Given the description of an element on the screen output the (x, y) to click on. 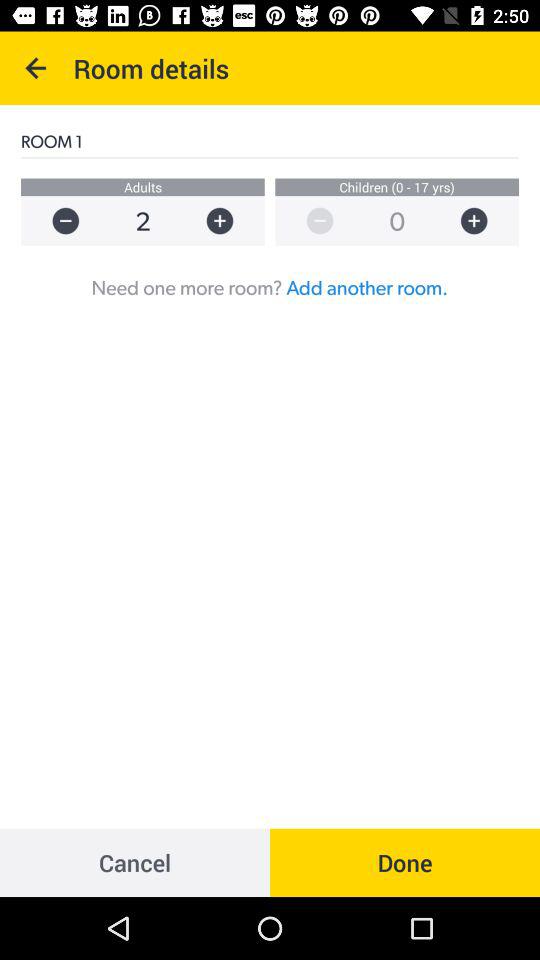
launch cancel (135, 862)
